Given the description of an element on the screen output the (x, y) to click on. 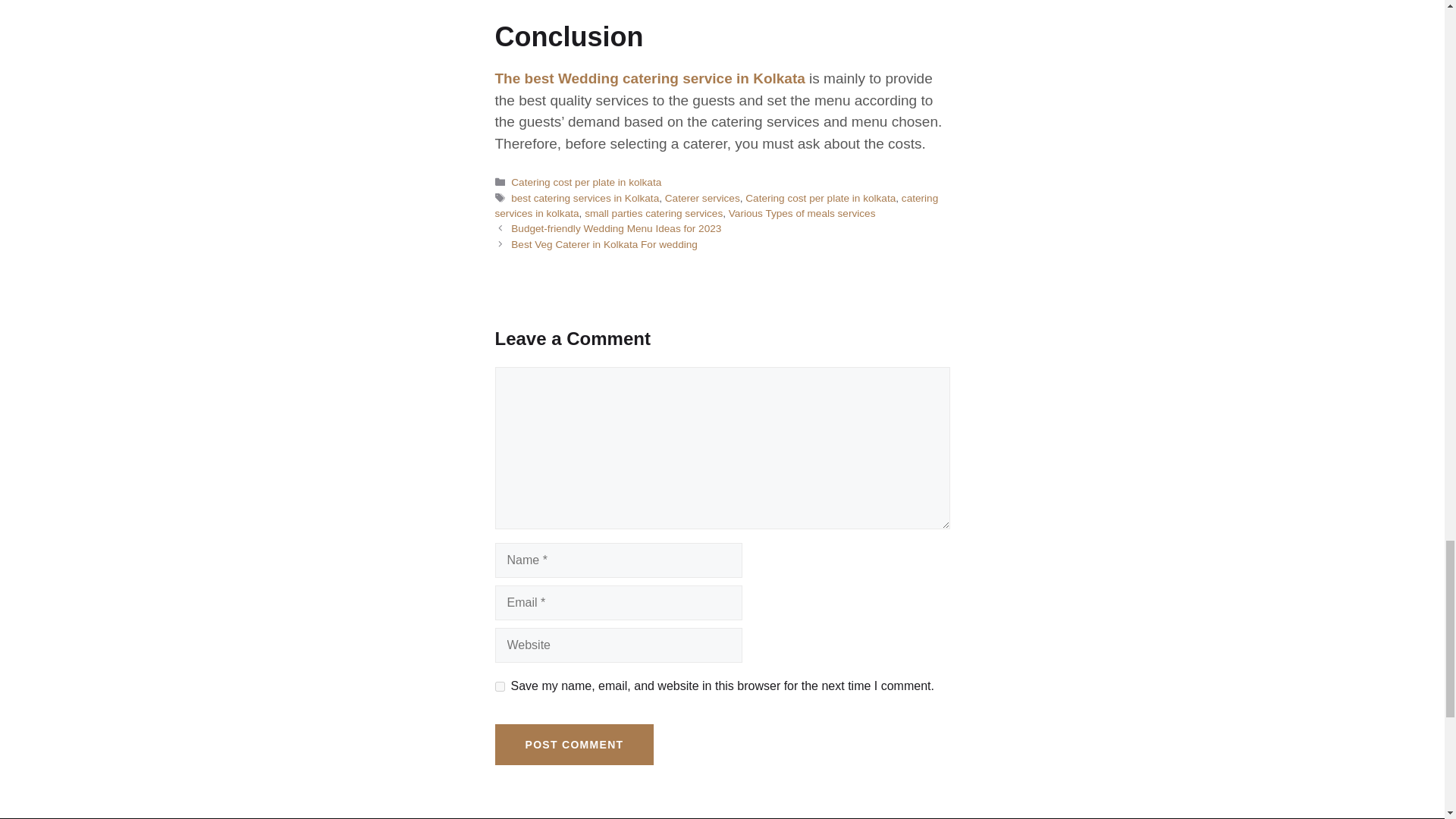
Various Types of meals services (802, 213)
Catering cost per plate in kolkata (820, 197)
Catering cost per plate in kolkata (586, 182)
The best Wedding catering service in Kolkata (650, 78)
catering services in kolkata (716, 205)
Caterer services (702, 197)
Best Veg Caterer in Kolkata For wedding (604, 244)
Post Comment (574, 743)
Post Comment (574, 743)
best catering services in Kolkata (585, 197)
